Given the description of an element on the screen output the (x, y) to click on. 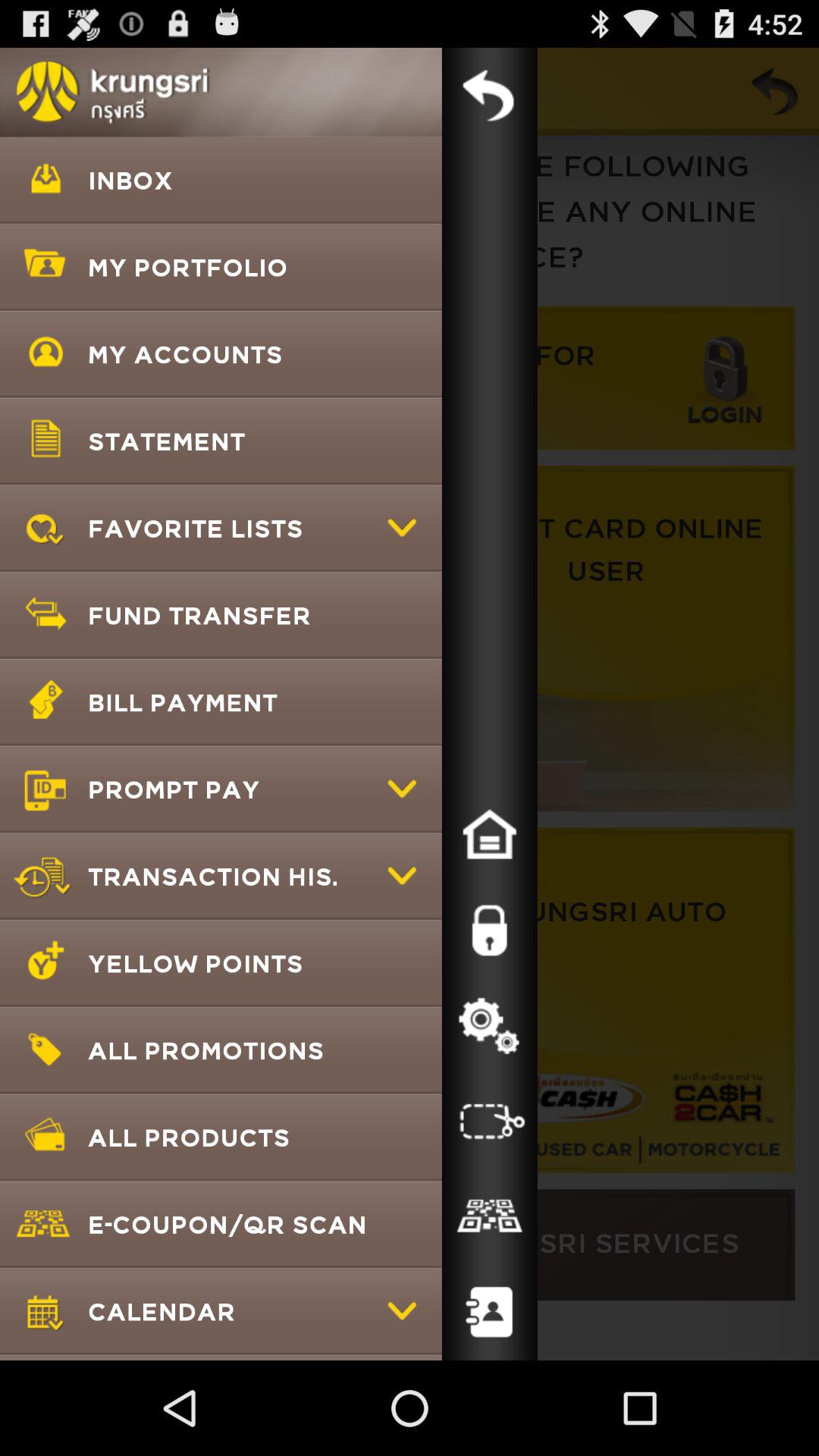
toggle security options (489, 930)
